Given the description of an element on the screen output the (x, y) to click on. 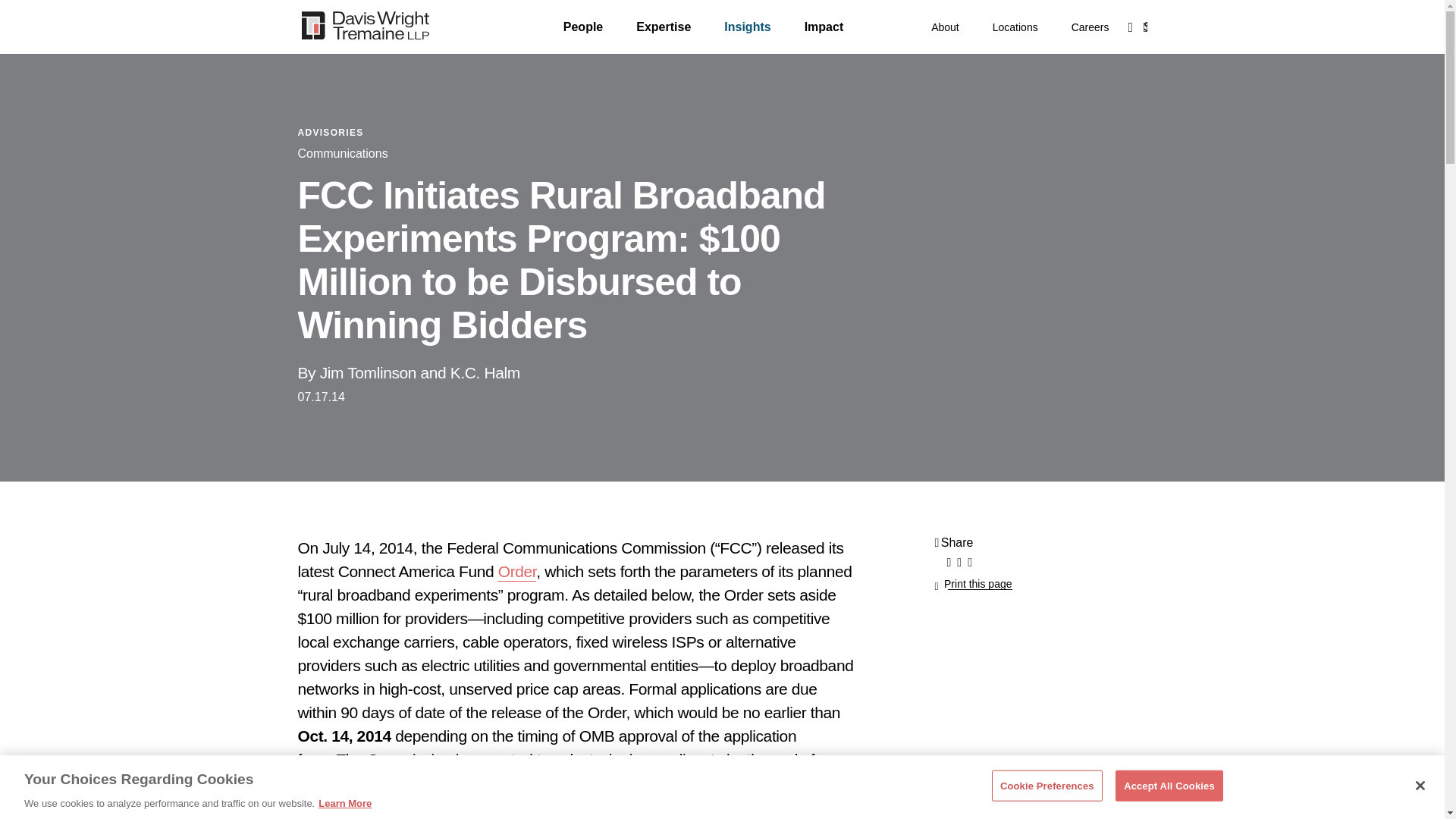
Impact (824, 27)
Order (517, 571)
People (582, 27)
About (945, 27)
Communications (342, 153)
Expertise (663, 27)
Print this page (972, 583)
Insights (746, 27)
Careers (1090, 27)
